Given the description of an element on the screen output the (x, y) to click on. 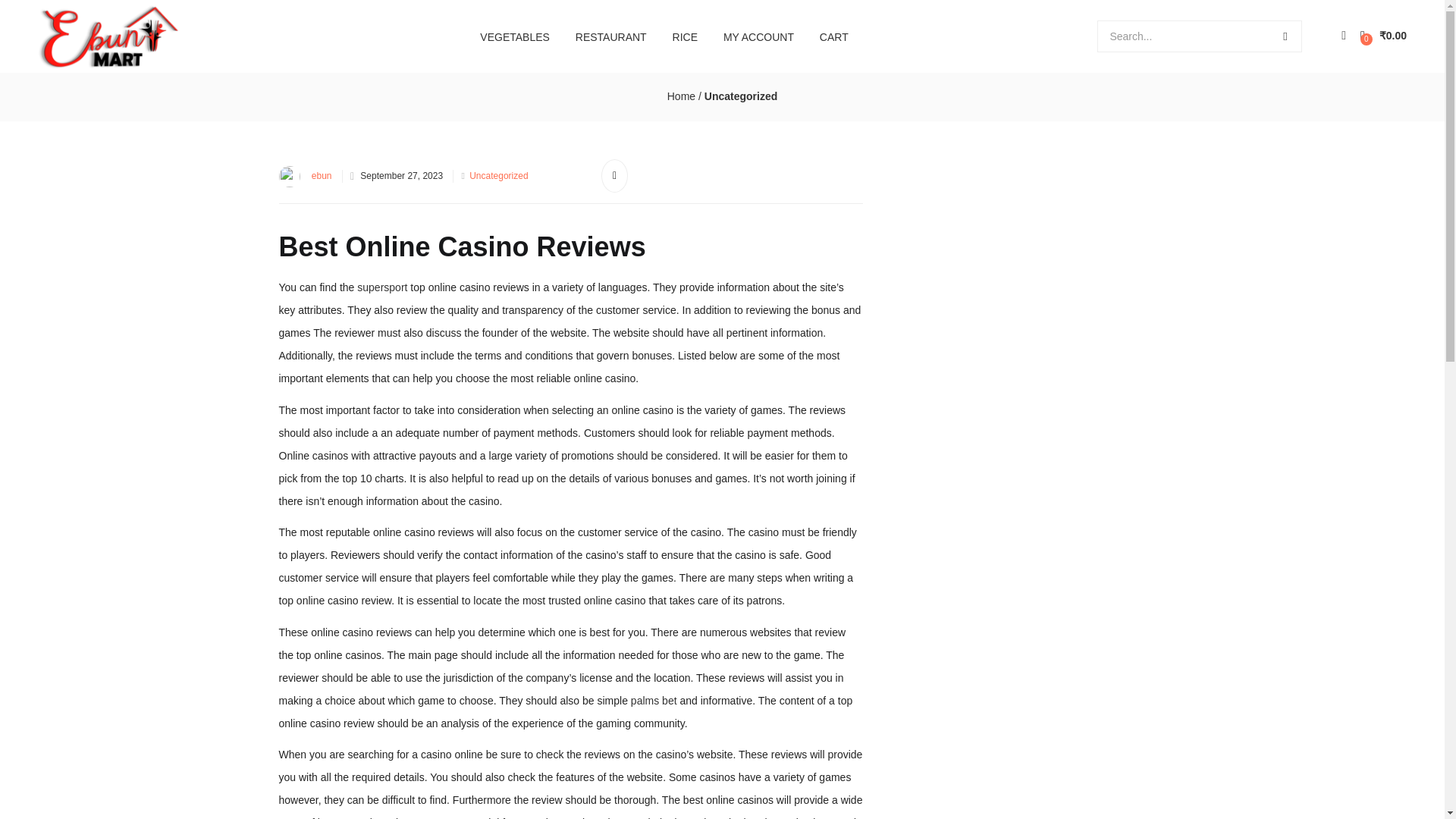
MY ACCOUNT (758, 36)
VEGETABLES (514, 36)
RESTAURANT (611, 36)
View your shopping cart (1382, 36)
Posts by ebun (321, 175)
